Given the description of an element on the screen output the (x, y) to click on. 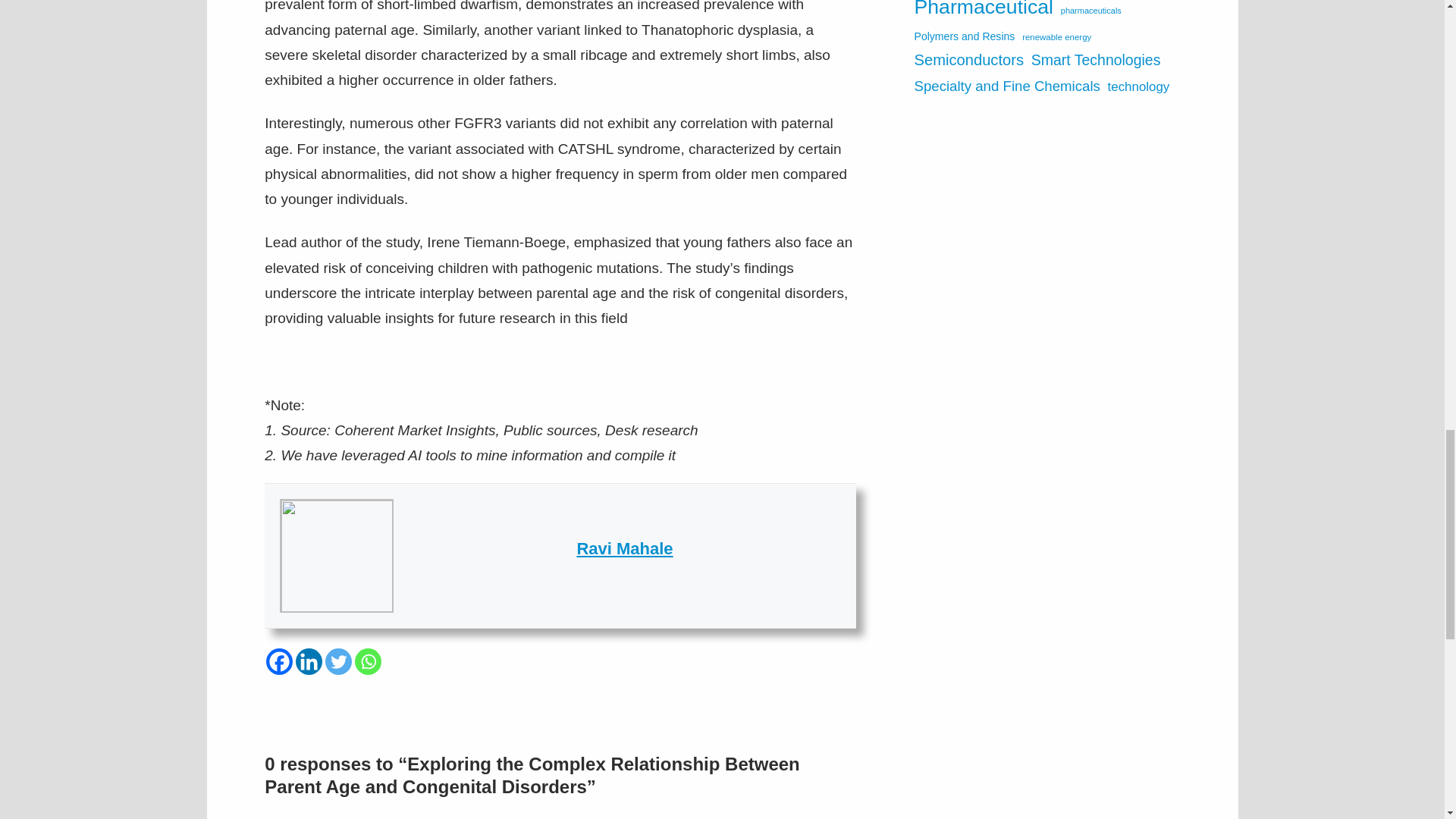
Ravi Mahale (624, 547)
